Given the description of an element on the screen output the (x, y) to click on. 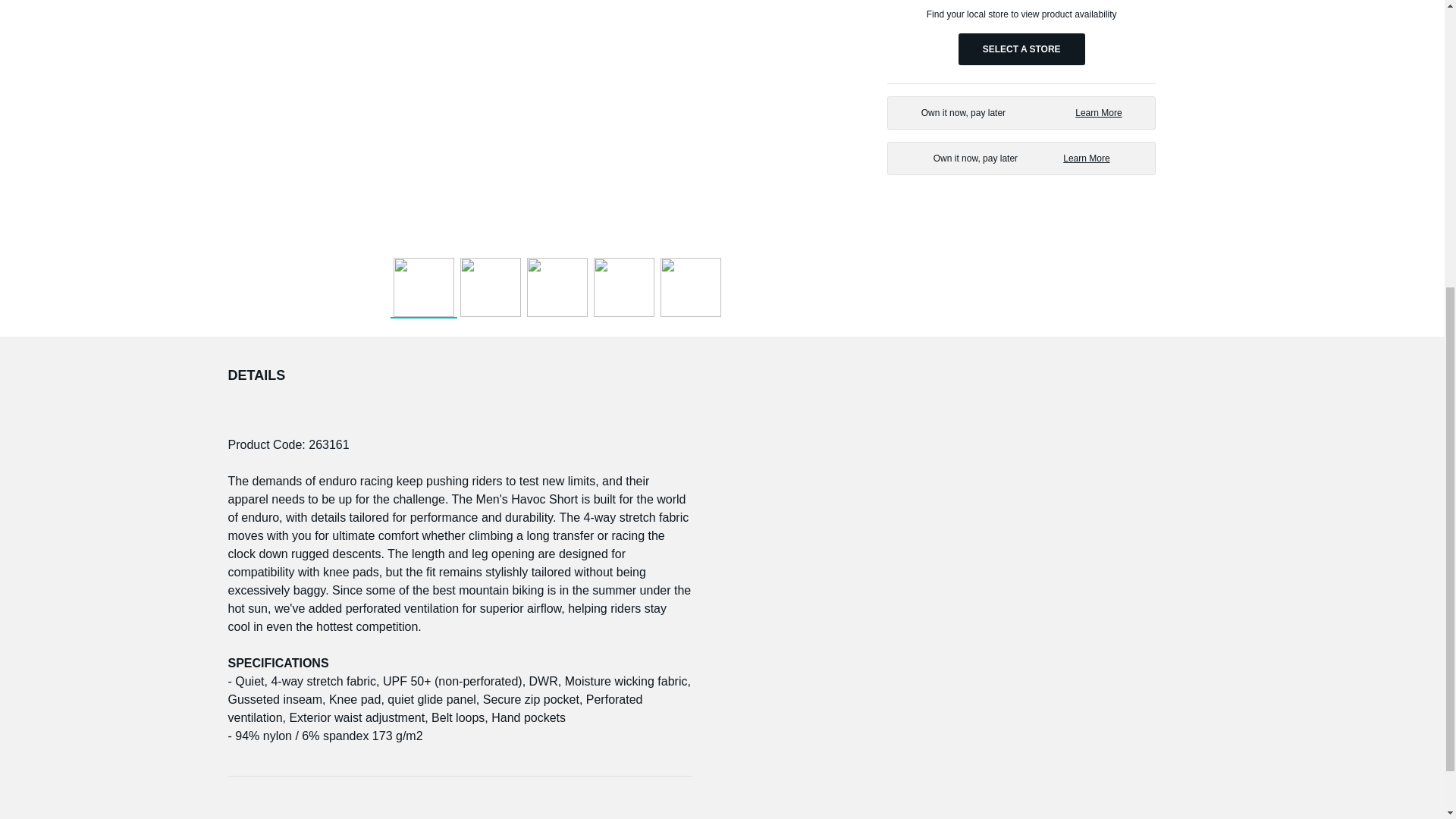
SELECT A STORE (1021, 158)
